Given the description of an element on the screen output the (x, y) to click on. 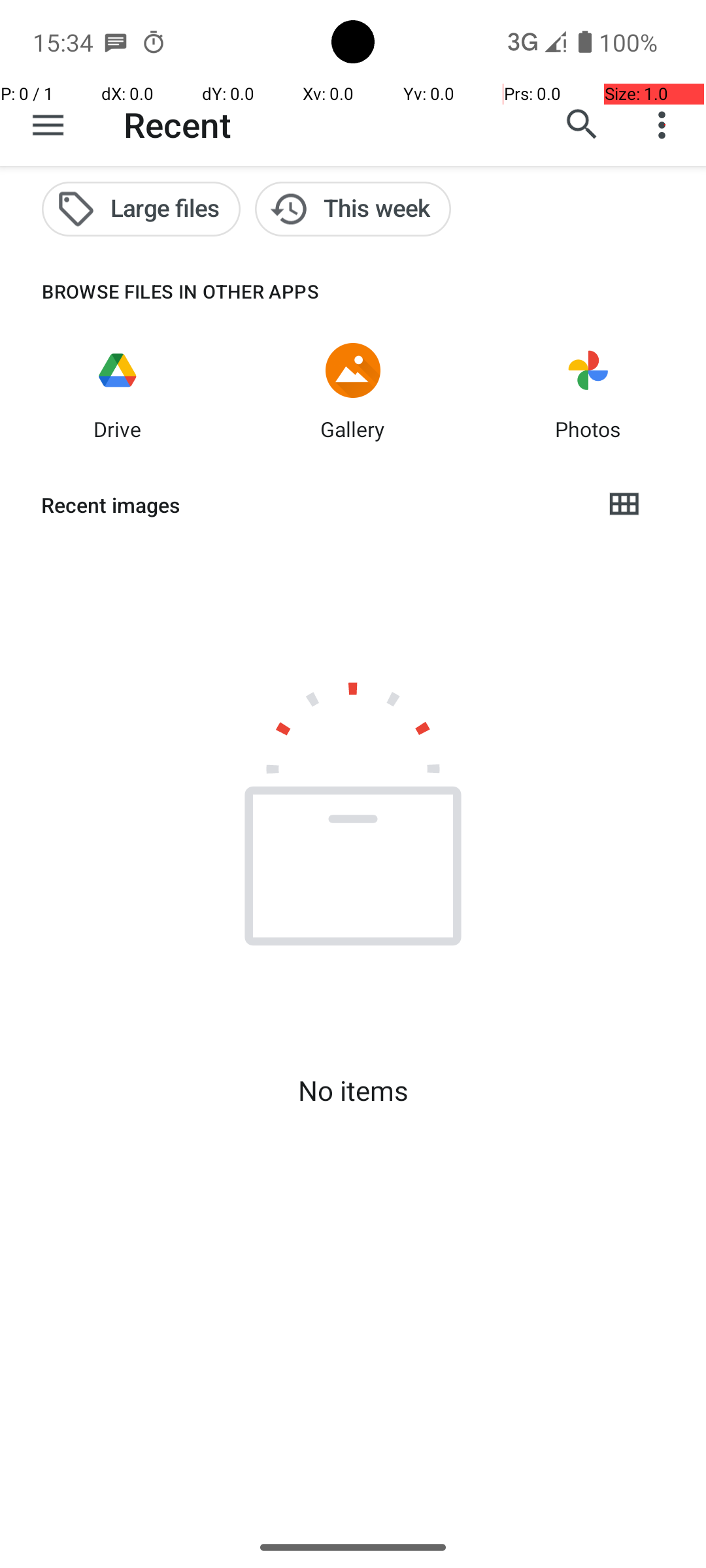
BROWSE FILES IN OTHER APPS Element type: android.widget.TextView (159, 291)
Recent images Element type: android.widget.TextView (311, 504)
Drive Element type: android.widget.TextView (117, 428)
Gallery Element type: android.widget.TextView (352, 428)
